Given the description of an element on the screen output the (x, y) to click on. 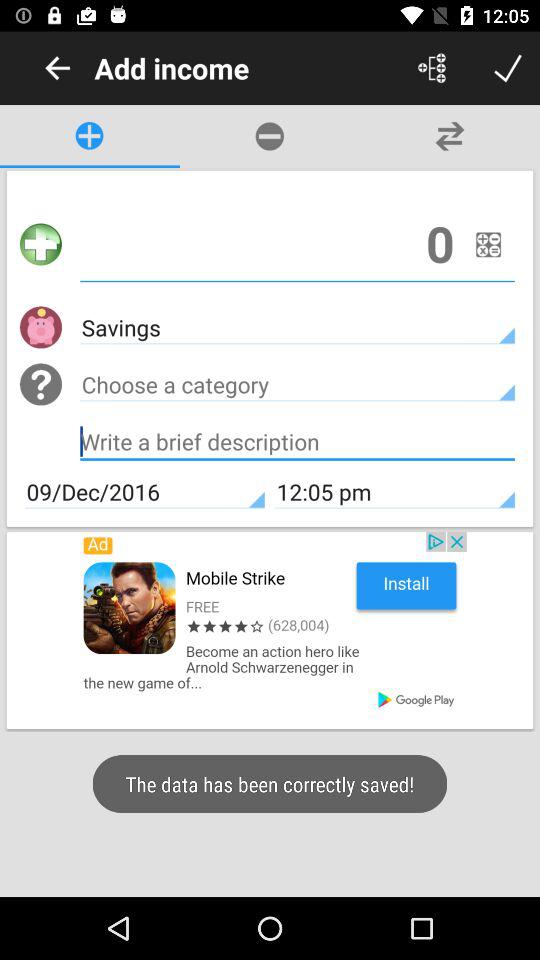
type amount (297, 244)
